Given the description of an element on the screen output the (x, y) to click on. 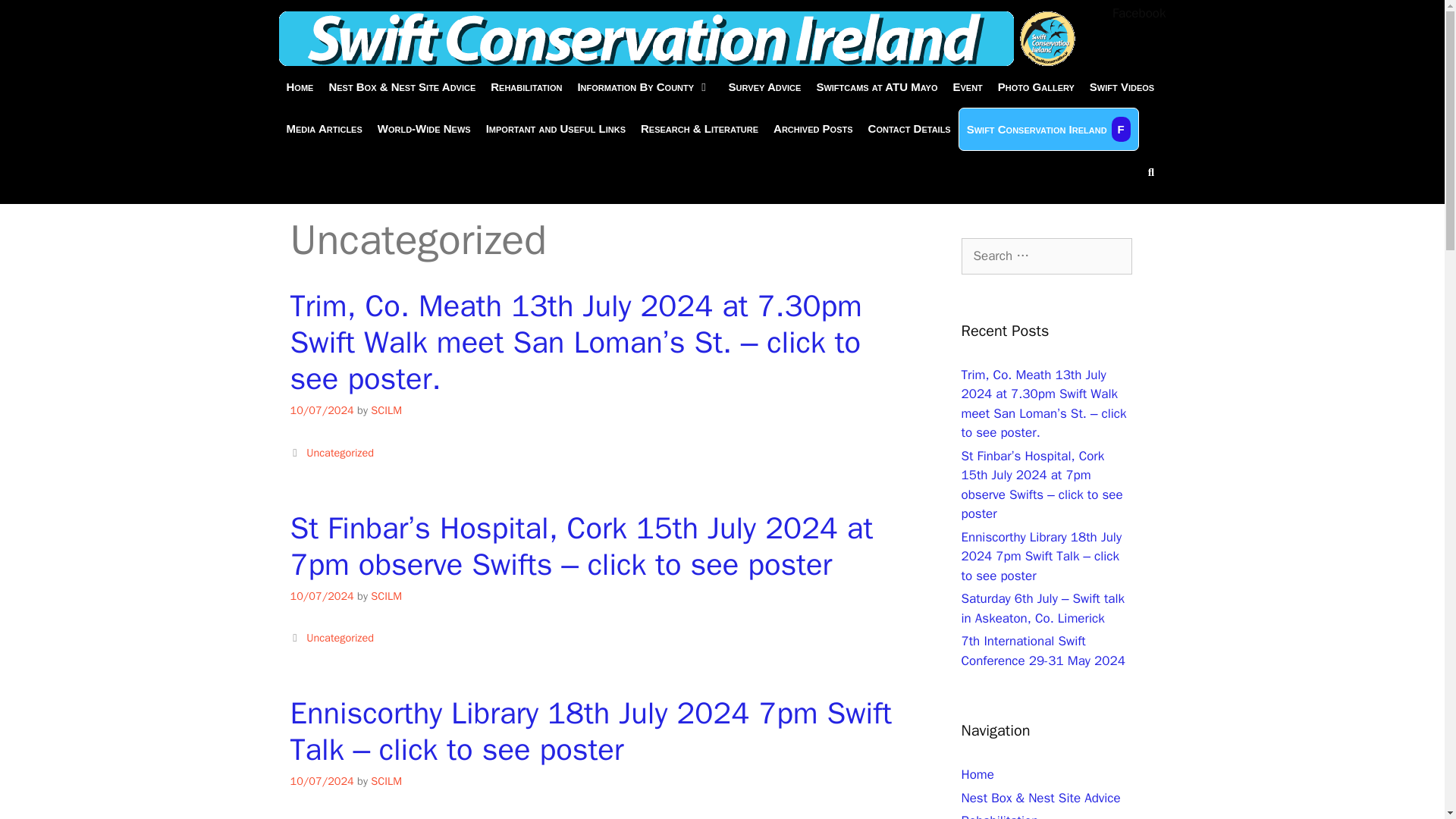
Important and Useful Links (556, 128)
World-Wide News (424, 128)
Contact Details (909, 128)
View all posts by SCILM (386, 409)
View all posts by SCILM (386, 595)
Swift Conservation Ireland (677, 38)
11:35 am (321, 409)
View all posts by SCILM (386, 780)
Survey Advice (764, 86)
11:26 am (321, 780)
Swift Videos (1121, 86)
Swiftcams at ATU Mayo (876, 86)
Search (443, 63)
Photo Gallery (1035, 86)
Rehabilitation (526, 86)
